Given the description of an element on the screen output the (x, y) to click on. 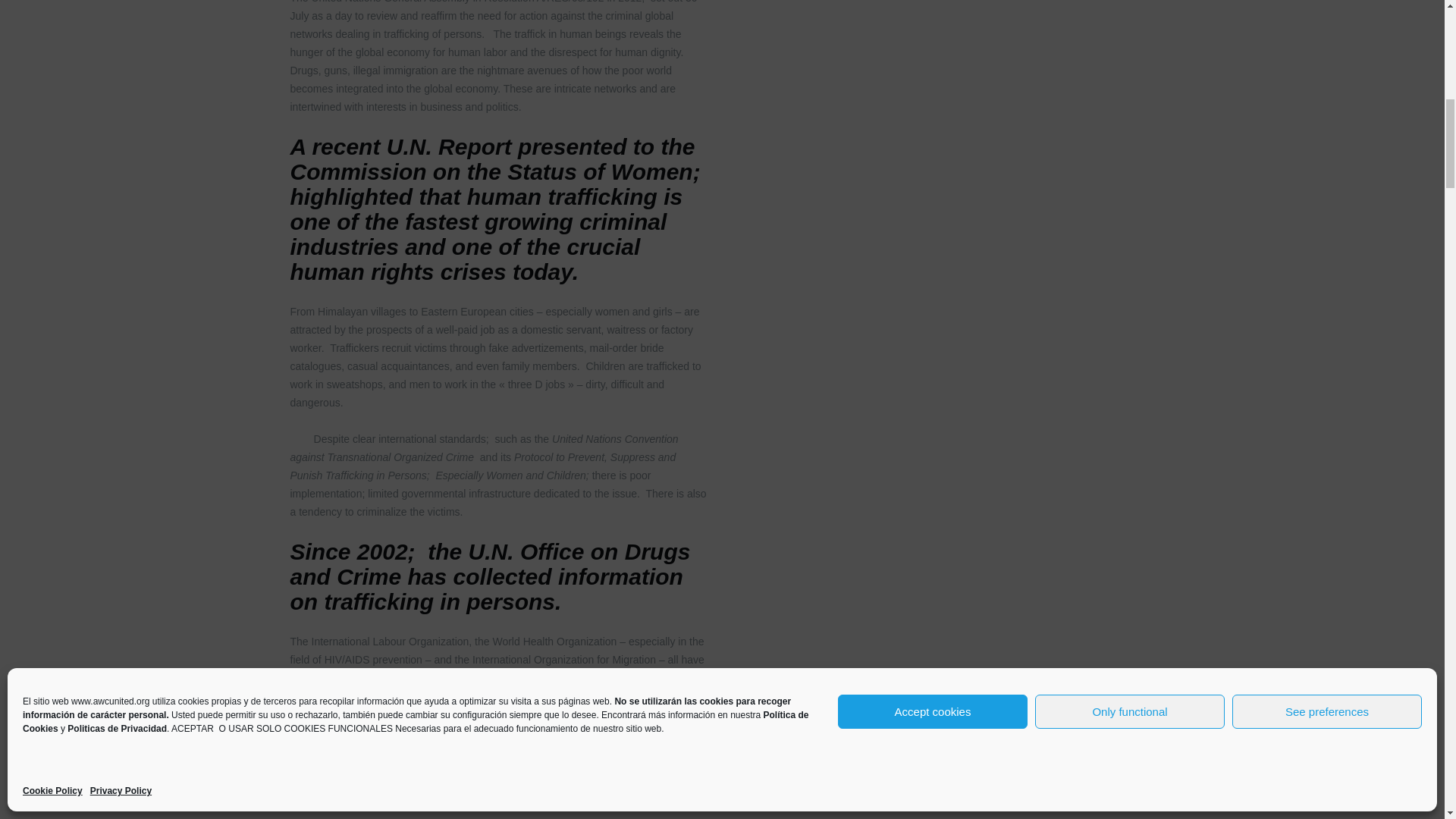
the Association of World Citizens;  (416, 750)
